Given the description of an element on the screen output the (x, y) to click on. 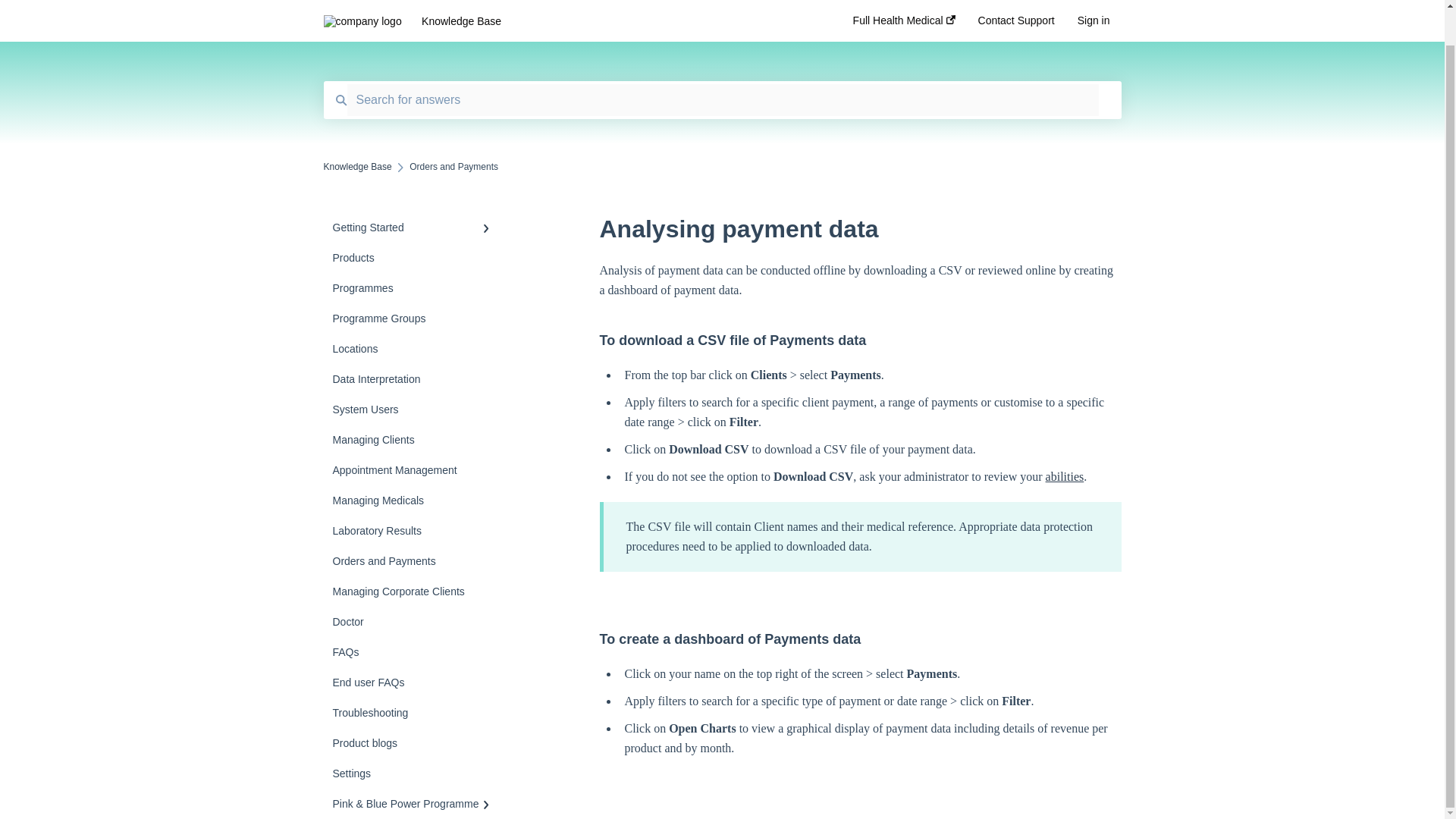
Sign in (1093, 7)
Knowledge Base (357, 166)
Getting Started (414, 227)
Contact Support (1016, 7)
Full Health Medical (904, 7)
